Given the description of an element on the screen output the (x, y) to click on. 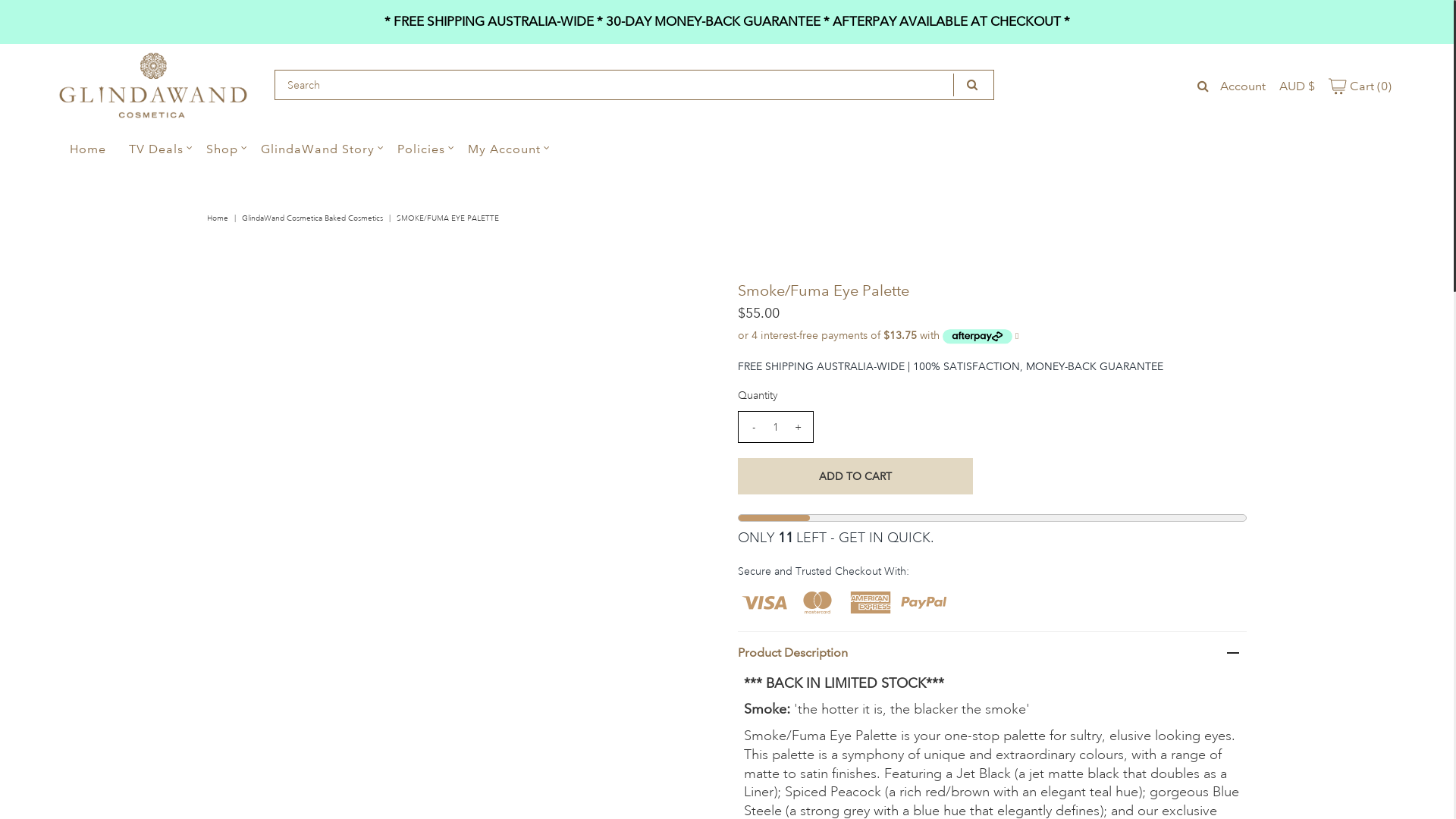
TV Deals Element type: text (155, 149)
AUD $ Element type: text (1297, 85)
GlindaWand Cosmetica Baked Cosmetics Element type: text (313, 218)
+ Element type: text (797, 426)
Add to Cart Element type: text (854, 476)
Home Element type: text (219, 218)
Shop Element type: text (221, 149)
Policies Element type: text (420, 149)
Product Description Element type: text (991, 651)
Home Element type: text (87, 149)
GlindaWand Story Element type: text (317, 149)
Cart (0) Element type: text (1359, 85)
Account Element type: text (1242, 85)
My Account Element type: text (504, 149)
Add to Cart Element type: text (1224, 773)
- Element type: text (753, 426)
